Given the description of an element on the screen output the (x, y) to click on. 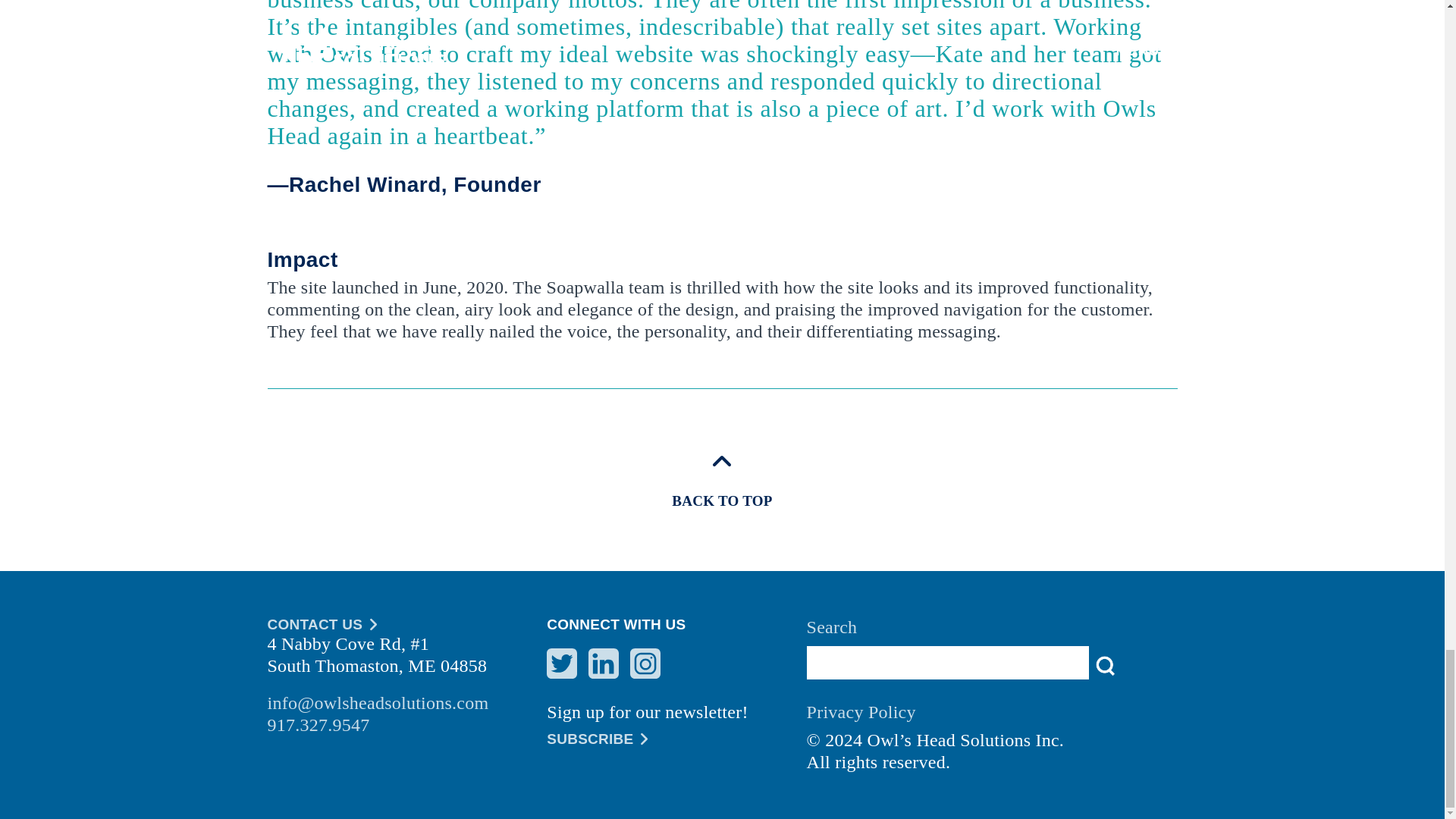
917.327.9547 (406, 725)
SUBSCRIBE (676, 739)
BACK TO TOP (721, 479)
instagram (645, 663)
Search for (947, 662)
Privacy Policy (991, 715)
twitter (561, 663)
CONTACT US (406, 624)
linked in (603, 663)
